Given the description of an element on the screen output the (x, y) to click on. 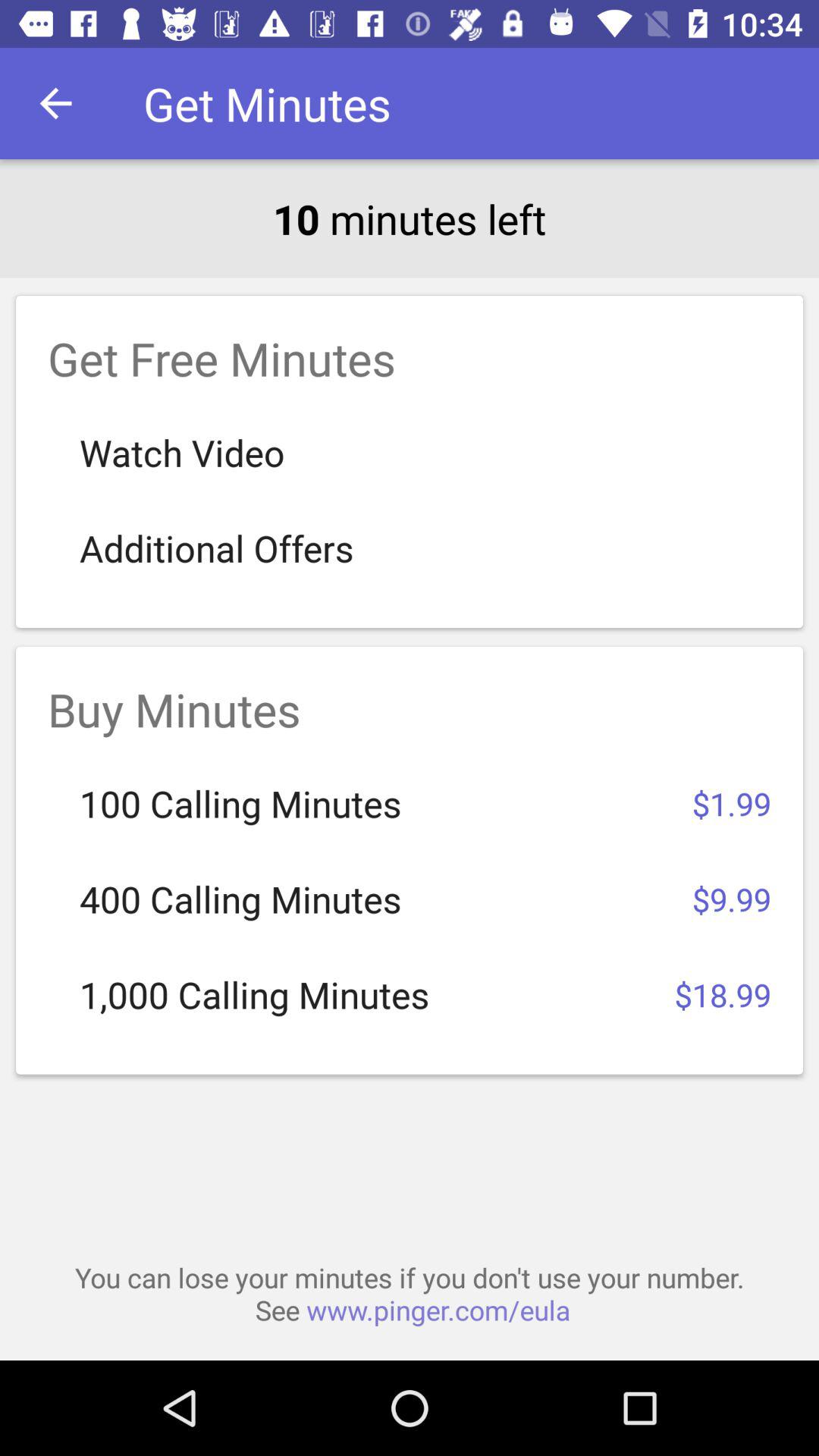
select the first item which is under text 10 minutes left (409, 461)
select the two lines with url on the bottom of the screen (409, 1294)
click the second boxed segment (409, 860)
